Given the description of an element on the screen output the (x, y) to click on. 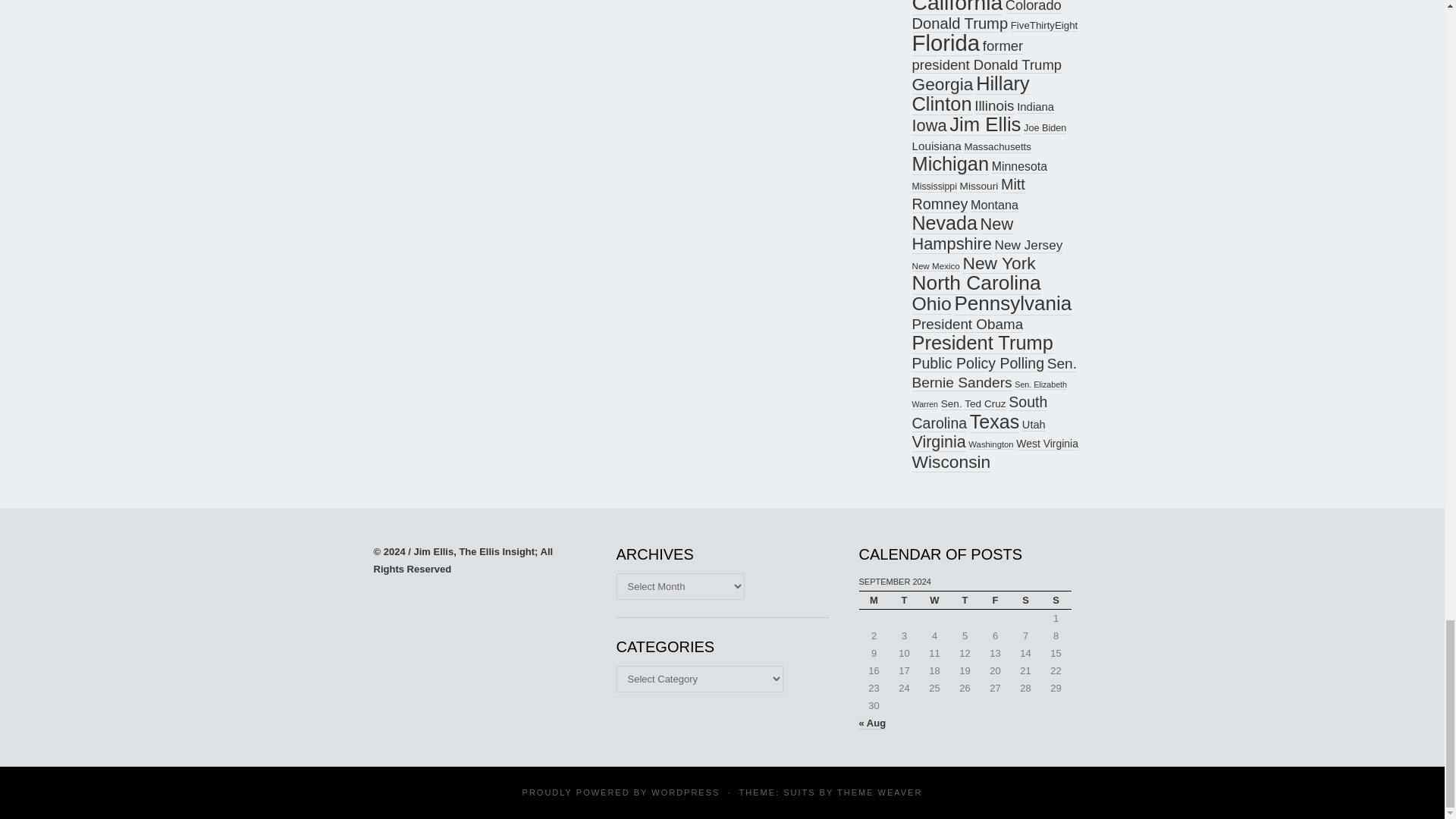
Wednesday (933, 599)
Saturday (1025, 599)
Monday (873, 599)
Thursday (964, 599)
Sunday (1055, 599)
Tuesday (903, 599)
Friday (994, 599)
